Given the description of an element on the screen output the (x, y) to click on. 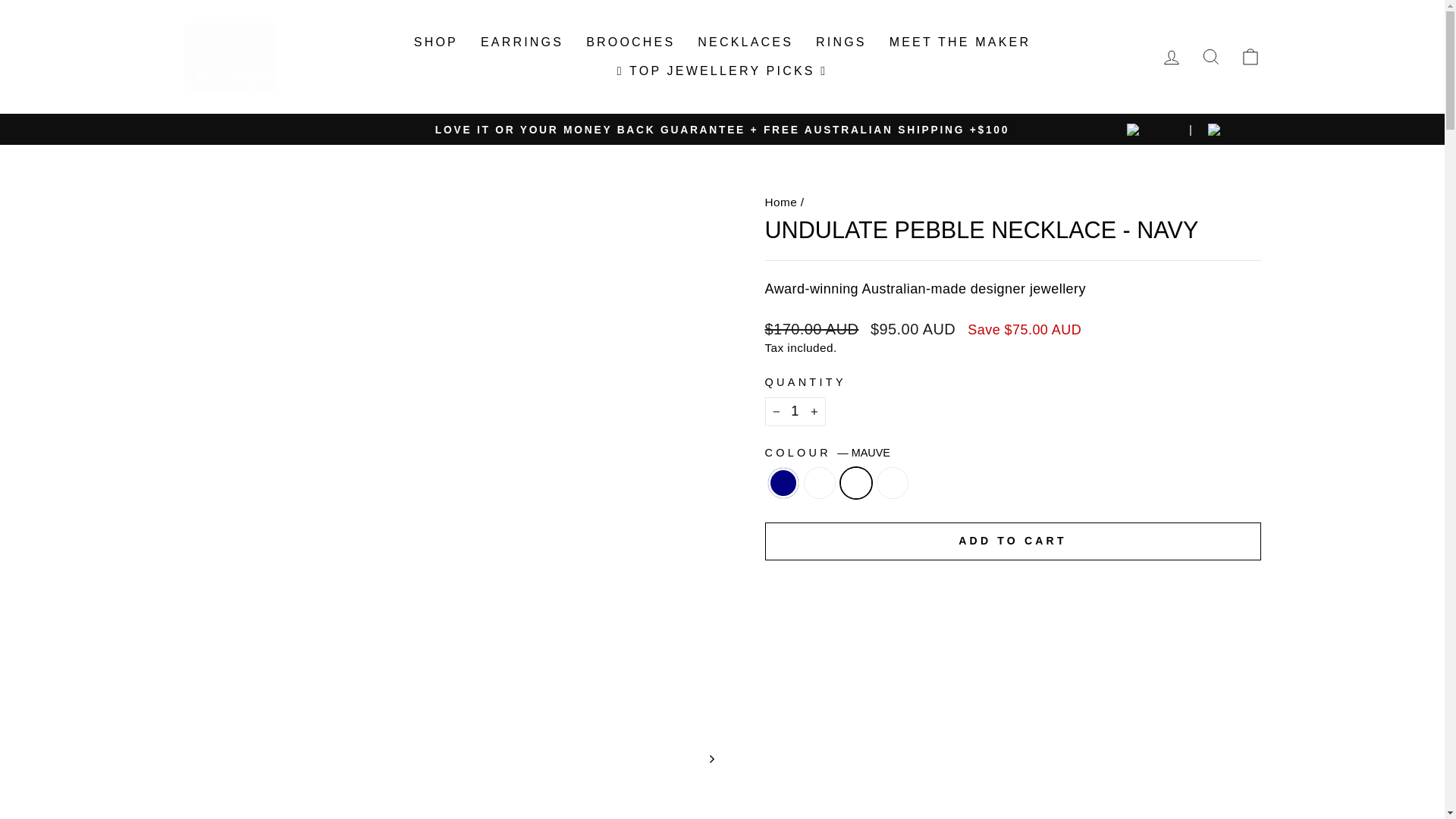
Back to the frontpage (780, 201)
1 (794, 411)
